Given the description of an element on the screen output the (x, y) to click on. 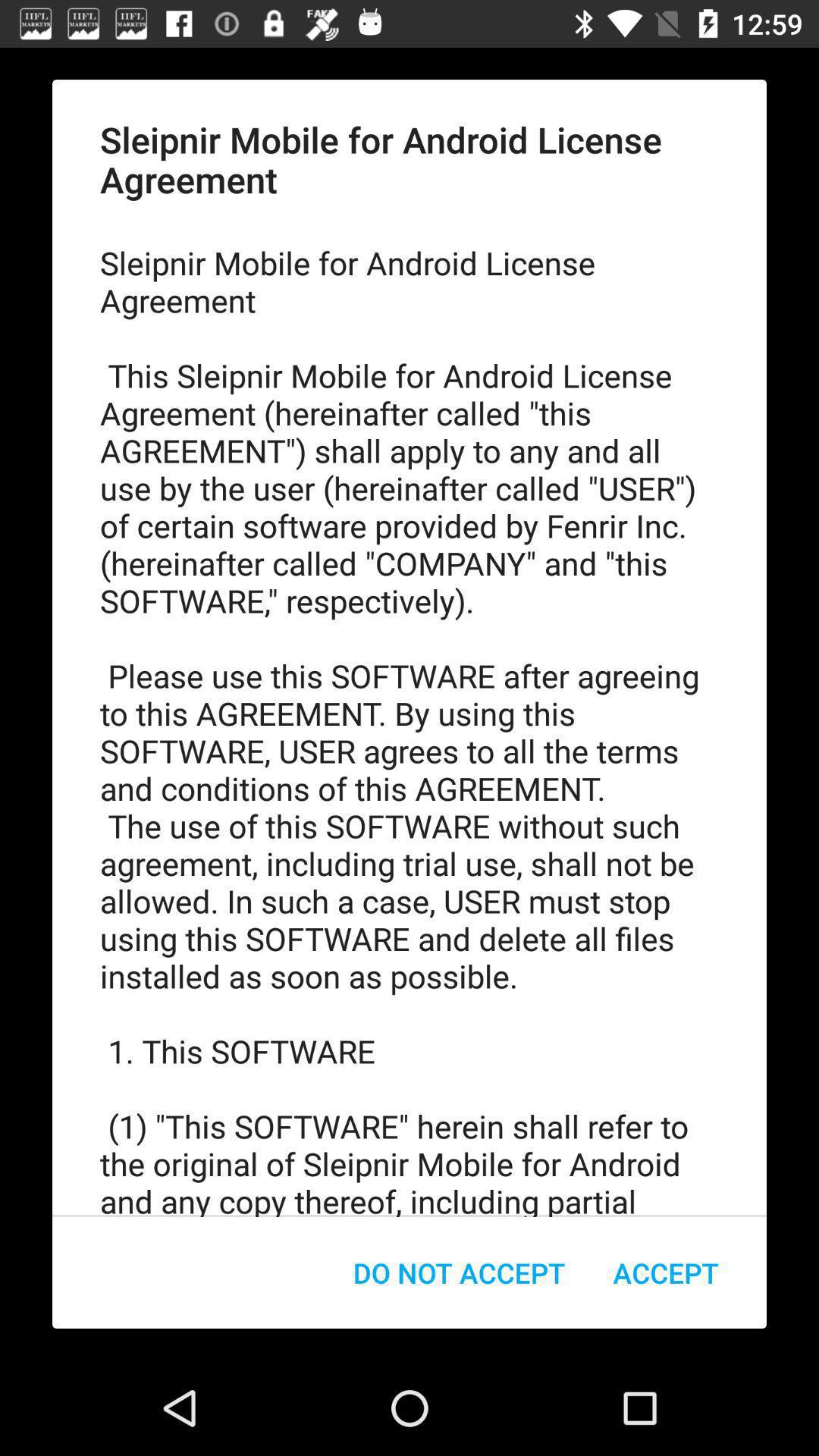
open icon below the sleipnir mobile for (459, 1272)
